Given the description of an element on the screen output the (x, y) to click on. 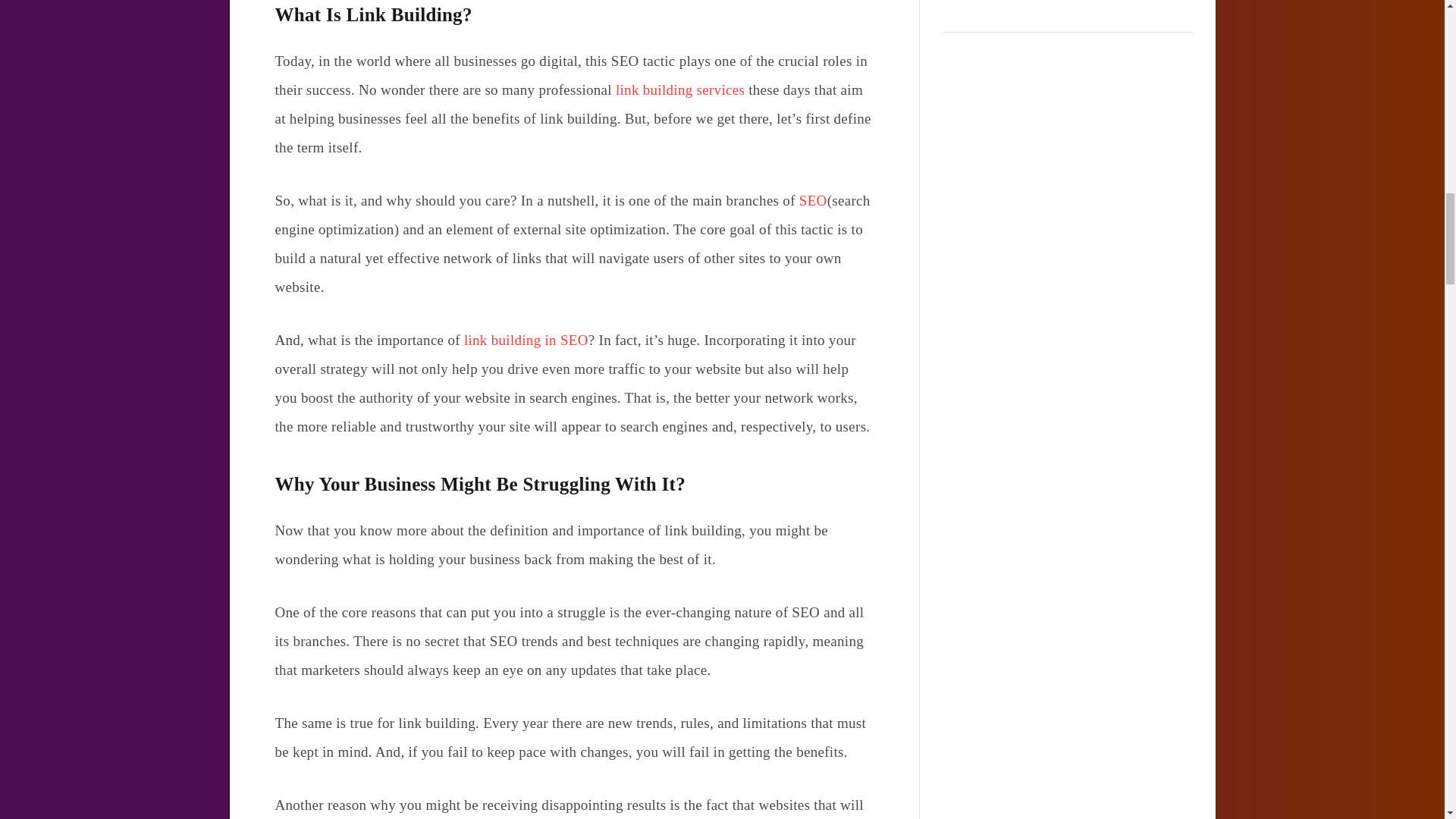
link building services (679, 89)
SEO (813, 200)
link building in SEO (526, 340)
